Given the description of an element on the screen output the (x, y) to click on. 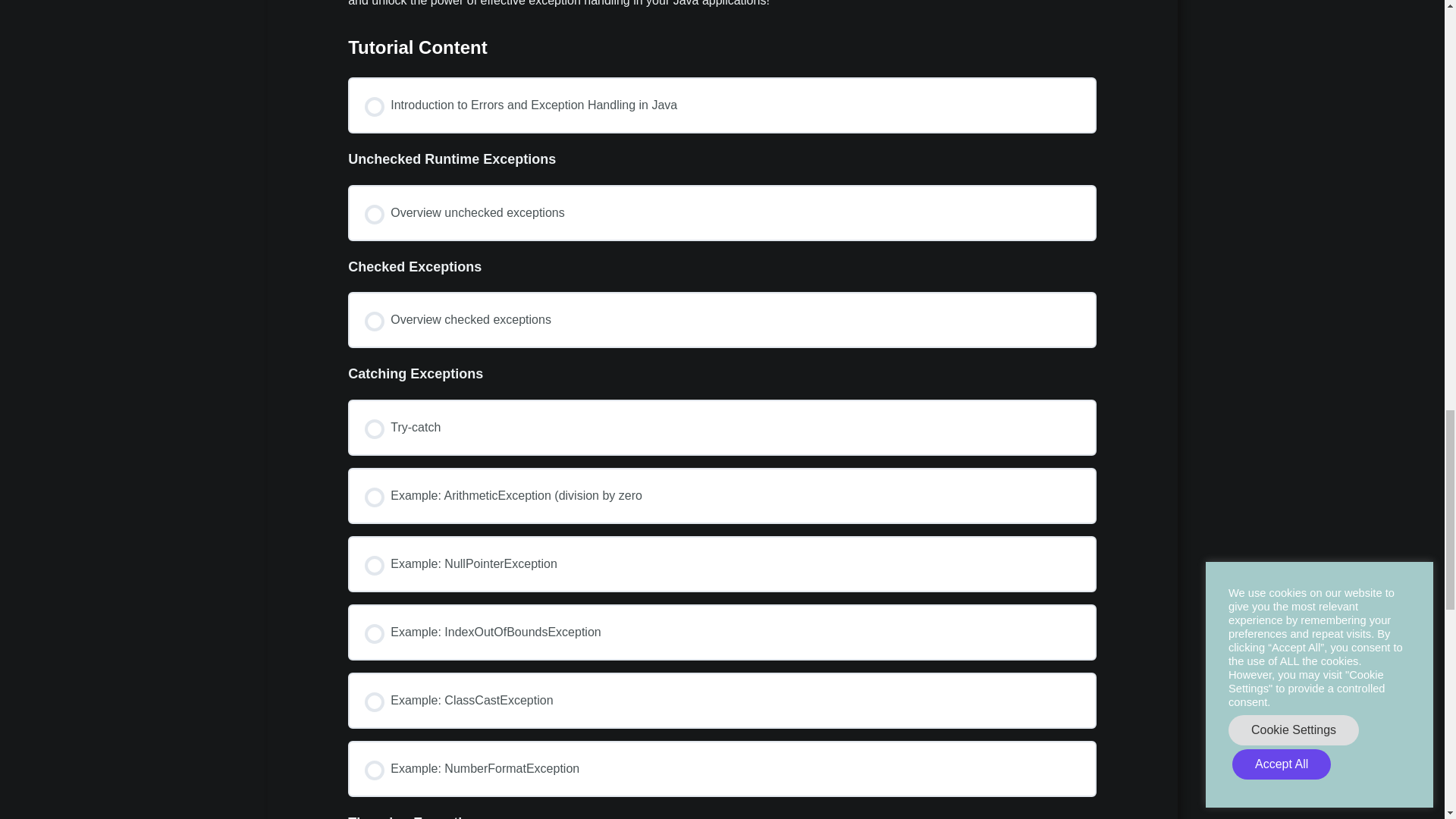
Example: IndexOutOfBoundsException (722, 631)
Example: NullPointerException (722, 563)
Example: NumberFormatException (722, 768)
Overview checked exceptions (722, 319)
Try-catch (722, 427)
Example: ClassCastException (722, 700)
Introduction to Errors and Exception Handling in Java (722, 105)
Overview unchecked exceptions (722, 212)
